Given the description of an element on the screen output the (x, y) to click on. 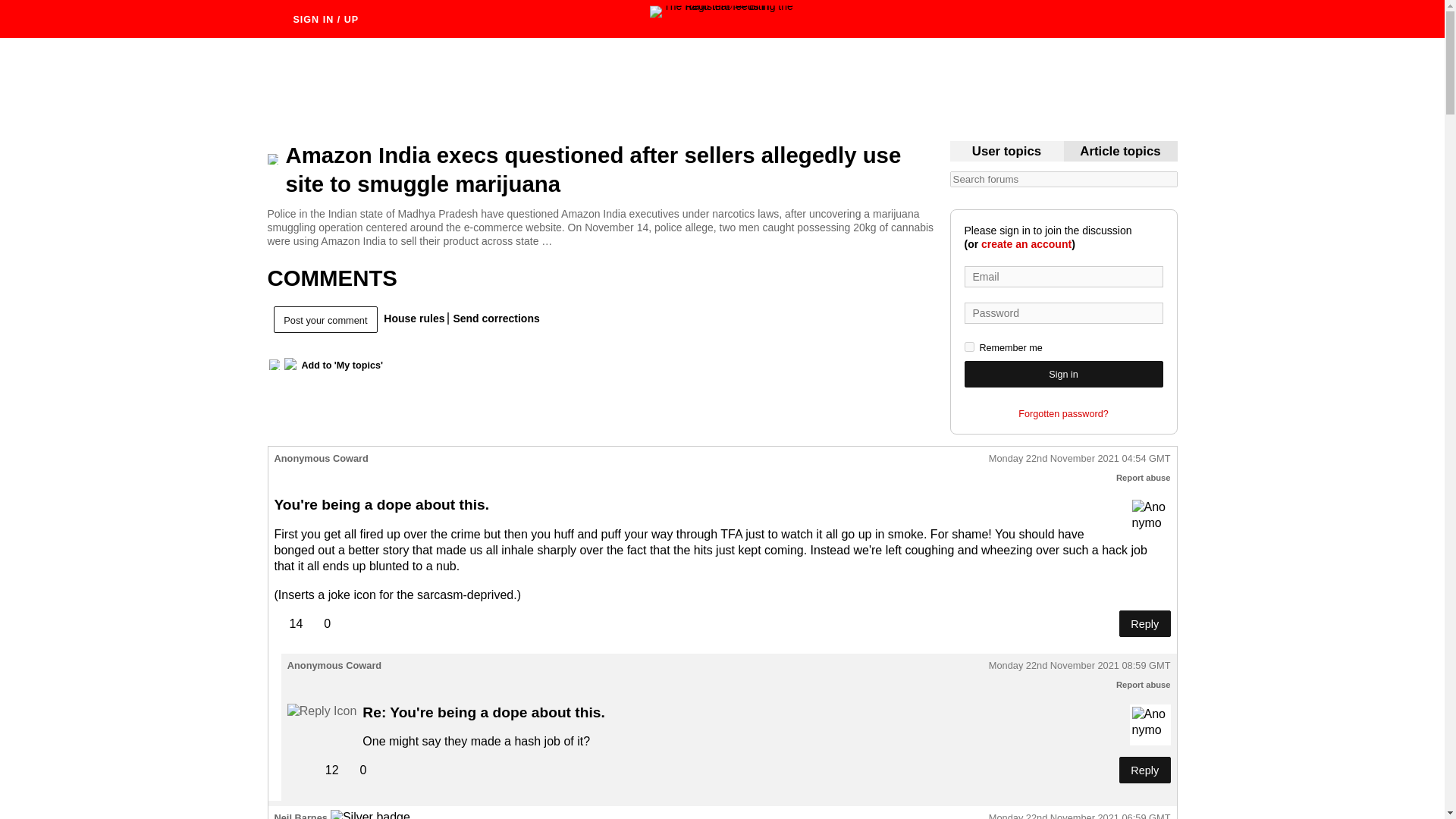
Dislike this post? Vote it down! (319, 623)
Permalink to this post (1079, 666)
Report abuse (1143, 477)
Inappropriate post? Report it to our moderators (1143, 684)
yes (968, 347)
Posted by a snivelling, miserable coward (1149, 724)
For corrections, please use link below article copy, kthxbye (1120, 151)
Inappropriate post? Report it to our moderators (1143, 477)
Posted by a snivelling, miserable coward (1149, 517)
Like this post? Vote for it! (288, 623)
Forgotten password? (1063, 413)
Spotted an error? Let us know. (492, 318)
Report abuse (1143, 684)
Feed of new posts in this topic (273, 364)
Commentards, Commentards, Commentards (1006, 151)
